Given the description of an element on the screen output the (x, y) to click on. 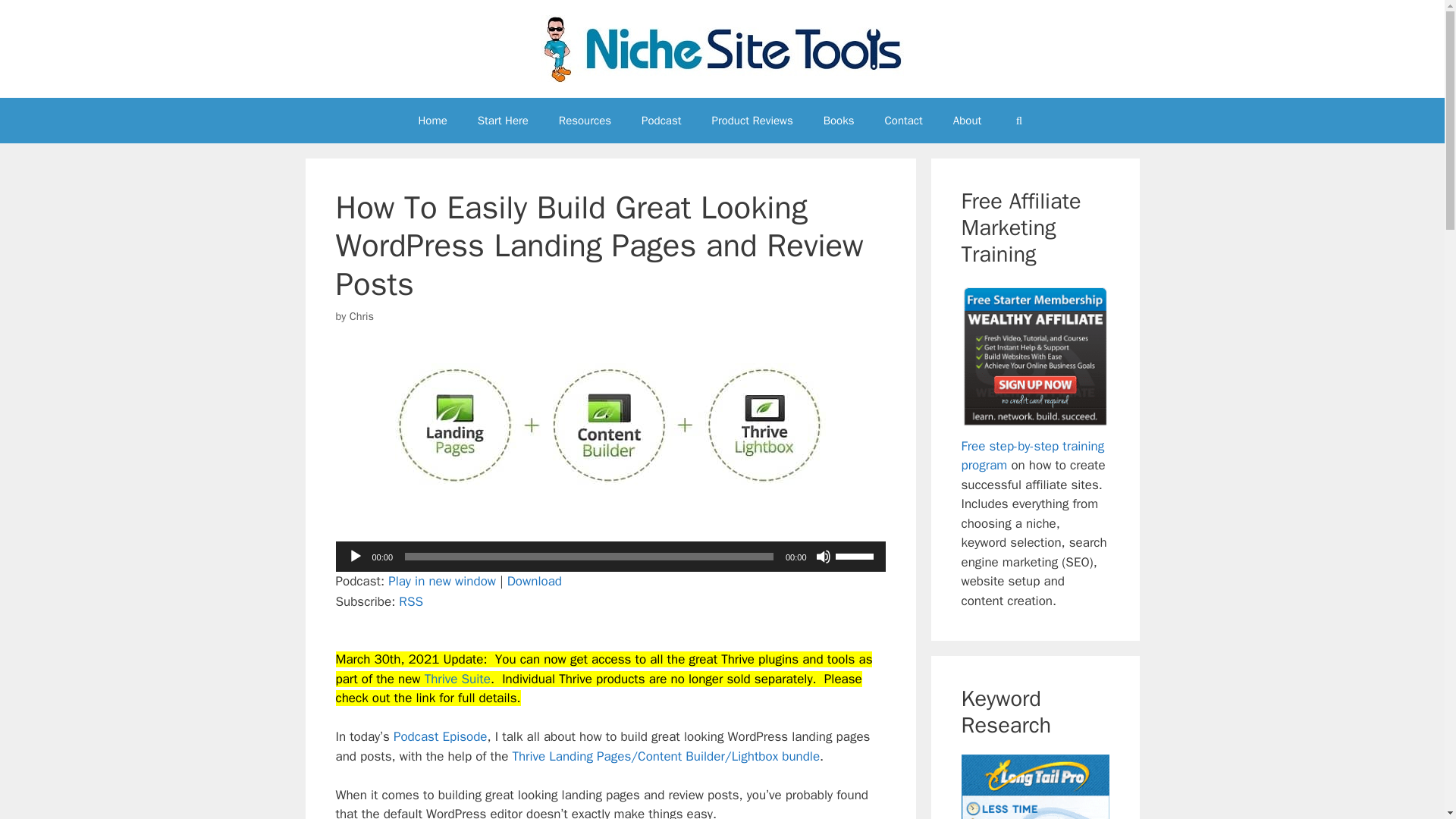
Play in new window (442, 580)
Download (534, 580)
Free step-by-step training program (1032, 456)
View all posts by Chris (361, 315)
Mute (823, 556)
Resources (584, 120)
Subscribe via RSS (410, 601)
Play (354, 556)
RSS (410, 601)
Download (534, 580)
About (966, 120)
Product Reviews (751, 120)
Chris (361, 315)
Start Here (503, 120)
Home (432, 120)
